Given the description of an element on the screen output the (x, y) to click on. 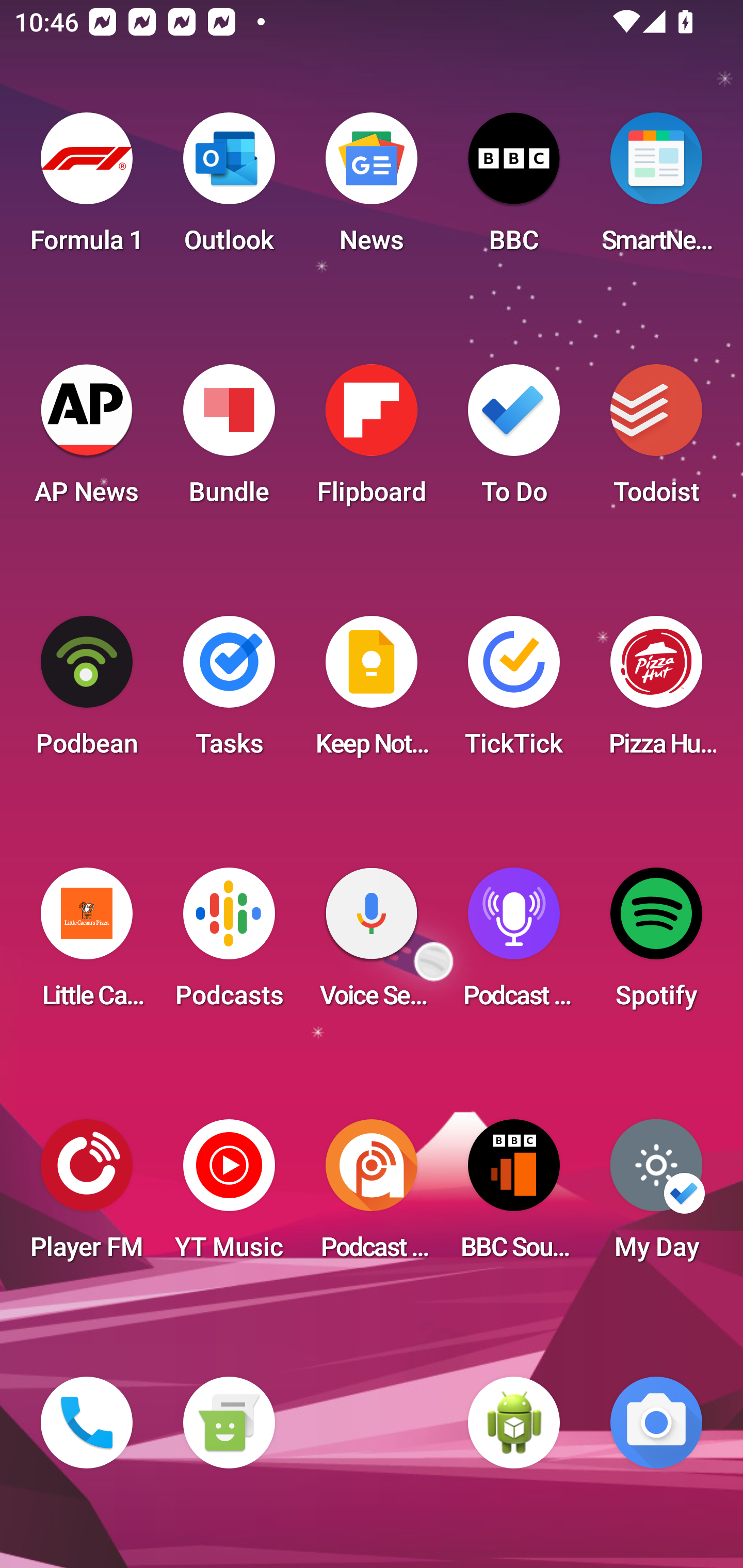
Formula 1 (86, 188)
Outlook (228, 188)
News (371, 188)
BBC (513, 188)
SmartNews (656, 188)
AP News (86, 440)
Bundle (228, 440)
Flipboard (371, 440)
To Do (513, 440)
Todoist (656, 440)
Podbean (86, 692)
Tasks (228, 692)
Keep Notes (371, 692)
TickTick (513, 692)
Pizza Hut HK & Macau (656, 692)
Little Caesars Pizza (86, 943)
Podcasts (228, 943)
Voice Search (371, 943)
Podcast Player (513, 943)
Spotify (656, 943)
Player FM (86, 1195)
YT Music (228, 1195)
Podcast Addict (371, 1195)
BBC Sounds (513, 1195)
My Day (656, 1195)
Phone (86, 1422)
Messaging (228, 1422)
WebView Browser Tester (513, 1422)
Camera (656, 1422)
